Given the description of an element on the screen output the (x, y) to click on. 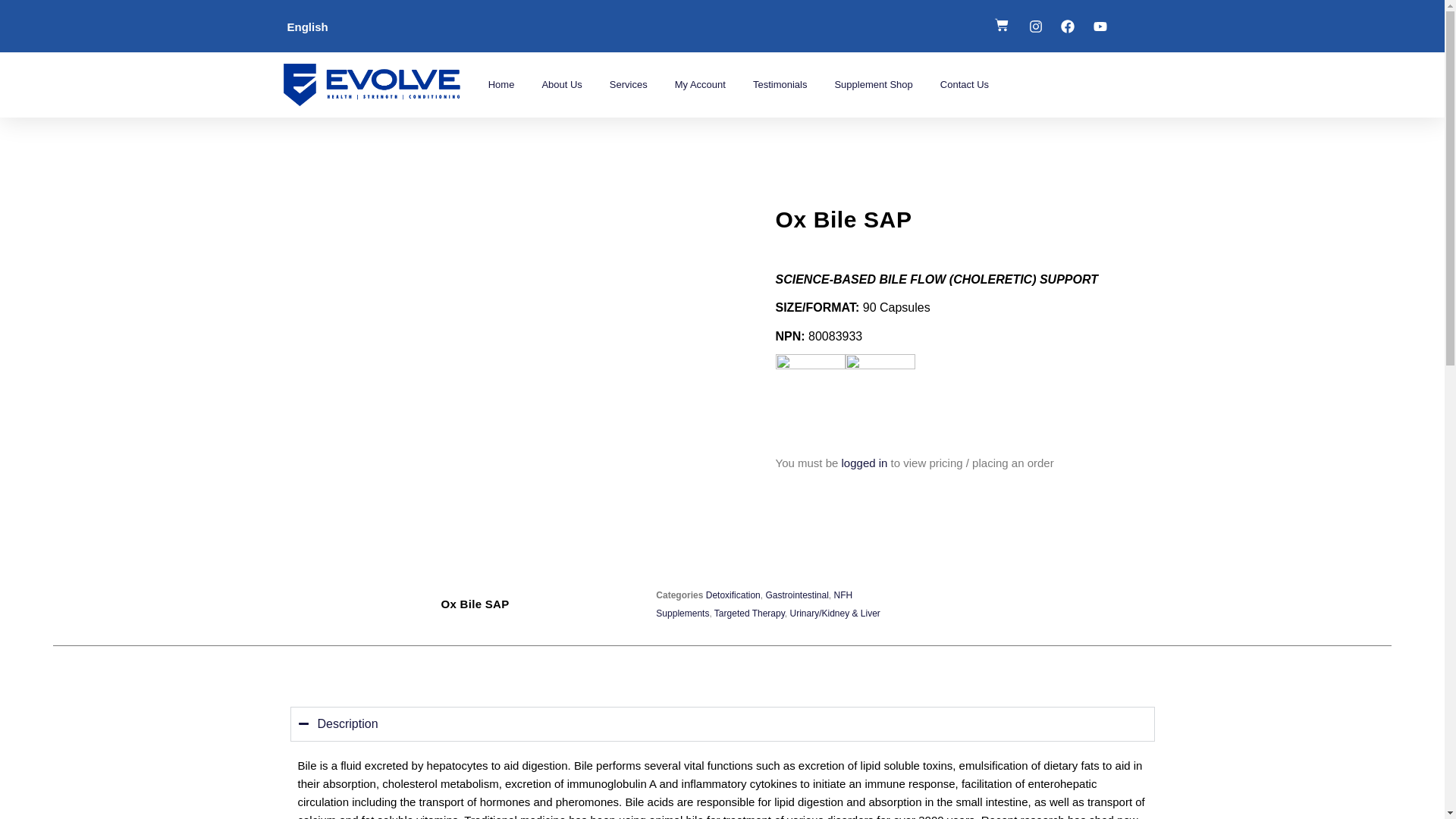
logged in (864, 462)
NFH Supplements (753, 604)
Home (501, 84)
Testimonials (780, 84)
About Us (560, 84)
Services (628, 84)
Targeted Therapy (749, 613)
Supplement Shop (872, 84)
Contact Us (964, 84)
Detoxification (733, 594)
